Given the description of an element on the screen output the (x, y) to click on. 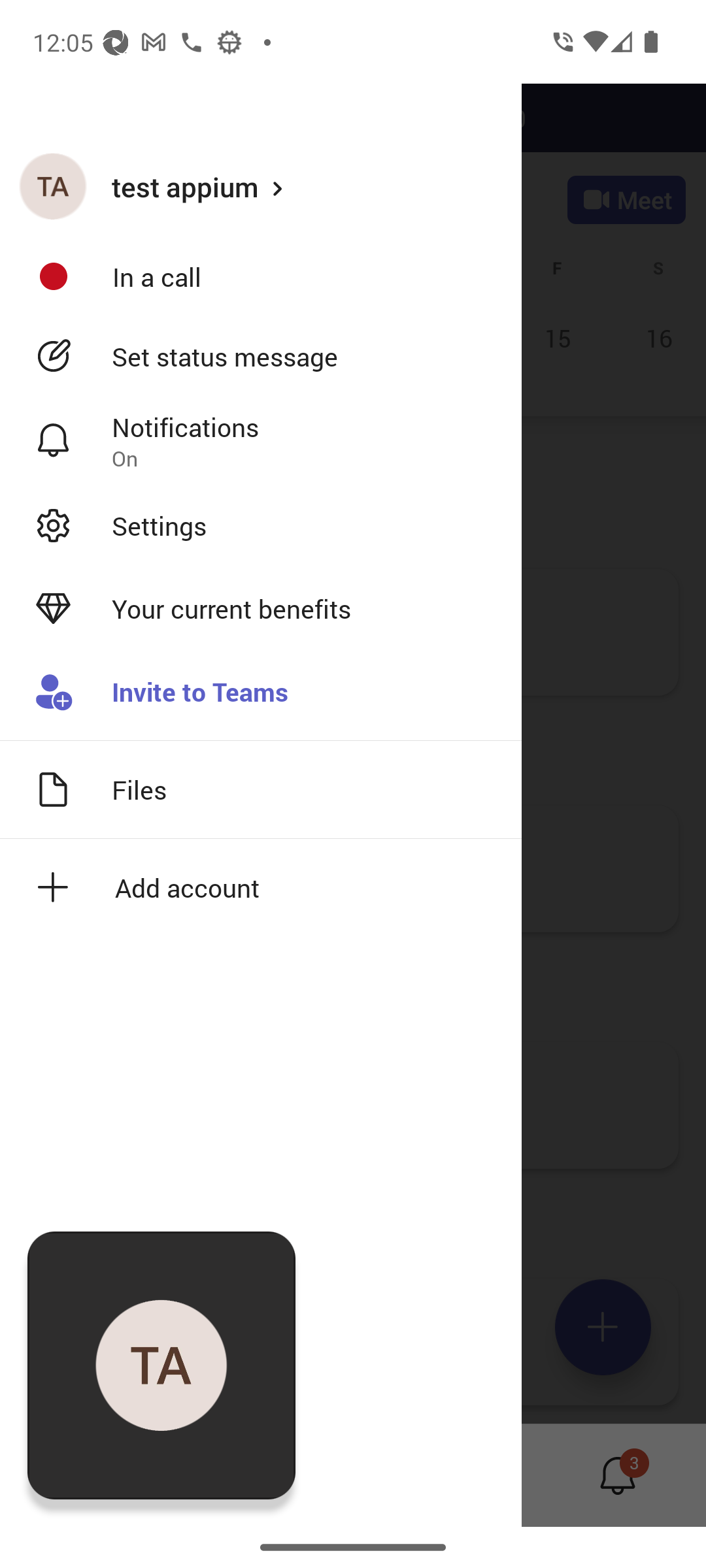
test appium (260, 186)
test appium profile picture (53, 186)
Notifications Notification settings On (260, 441)
Settings Open settings (260, 525)
Your current benefits (260, 608)
Invite to Teams Invite someone to your Teams org (260, 691)
Files (260, 789)
Add account icon Add account (260, 887)
